Given the description of an element on the screen output the (x, y) to click on. 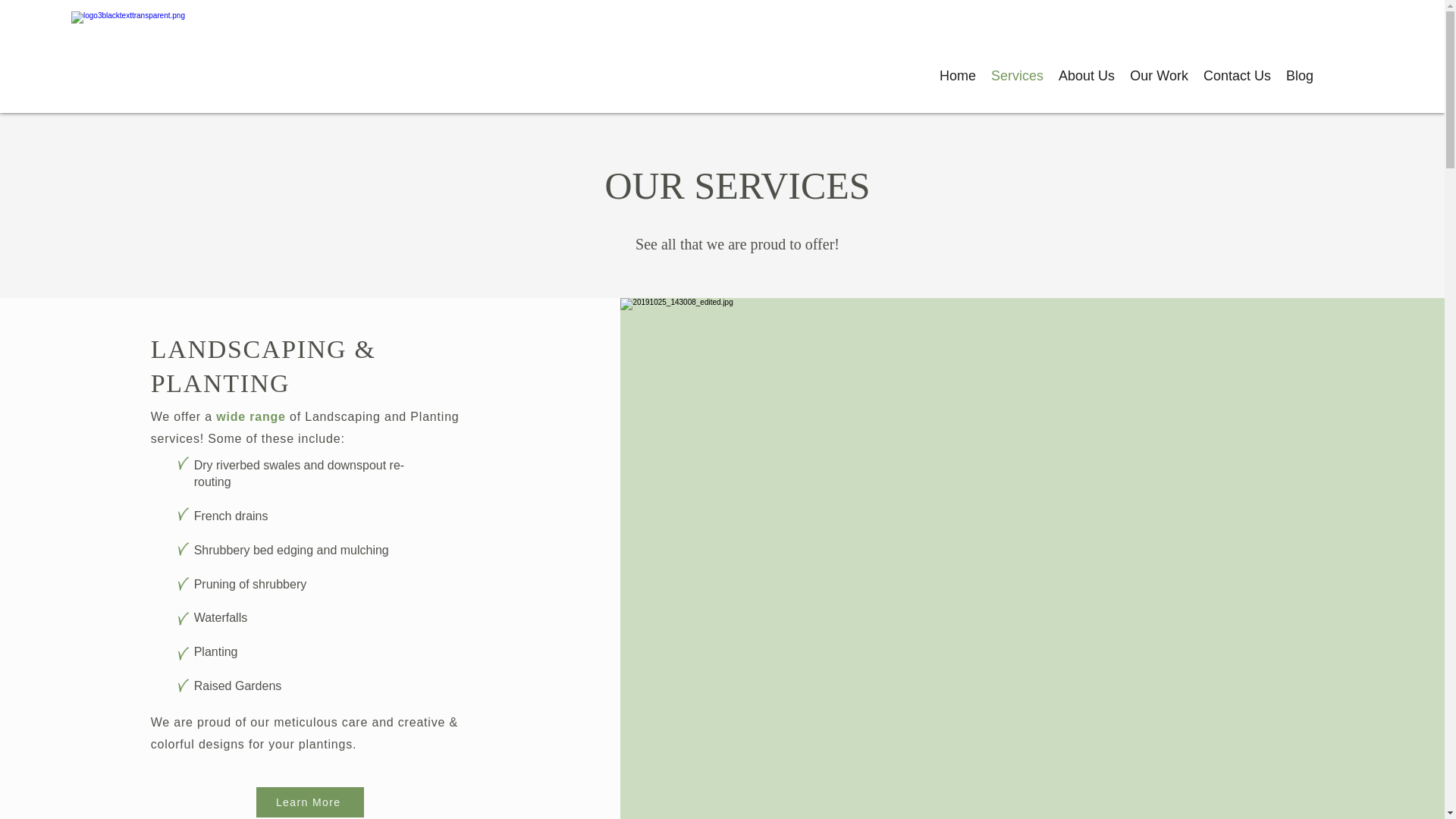
Our Work (1158, 75)
Home (957, 75)
Blog (1299, 75)
Services (1017, 75)
About Us (1086, 75)
Contact Us (1236, 75)
Learn More (310, 802)
logo 3updated.png (216, 55)
